Given the description of an element on the screen output the (x, y) to click on. 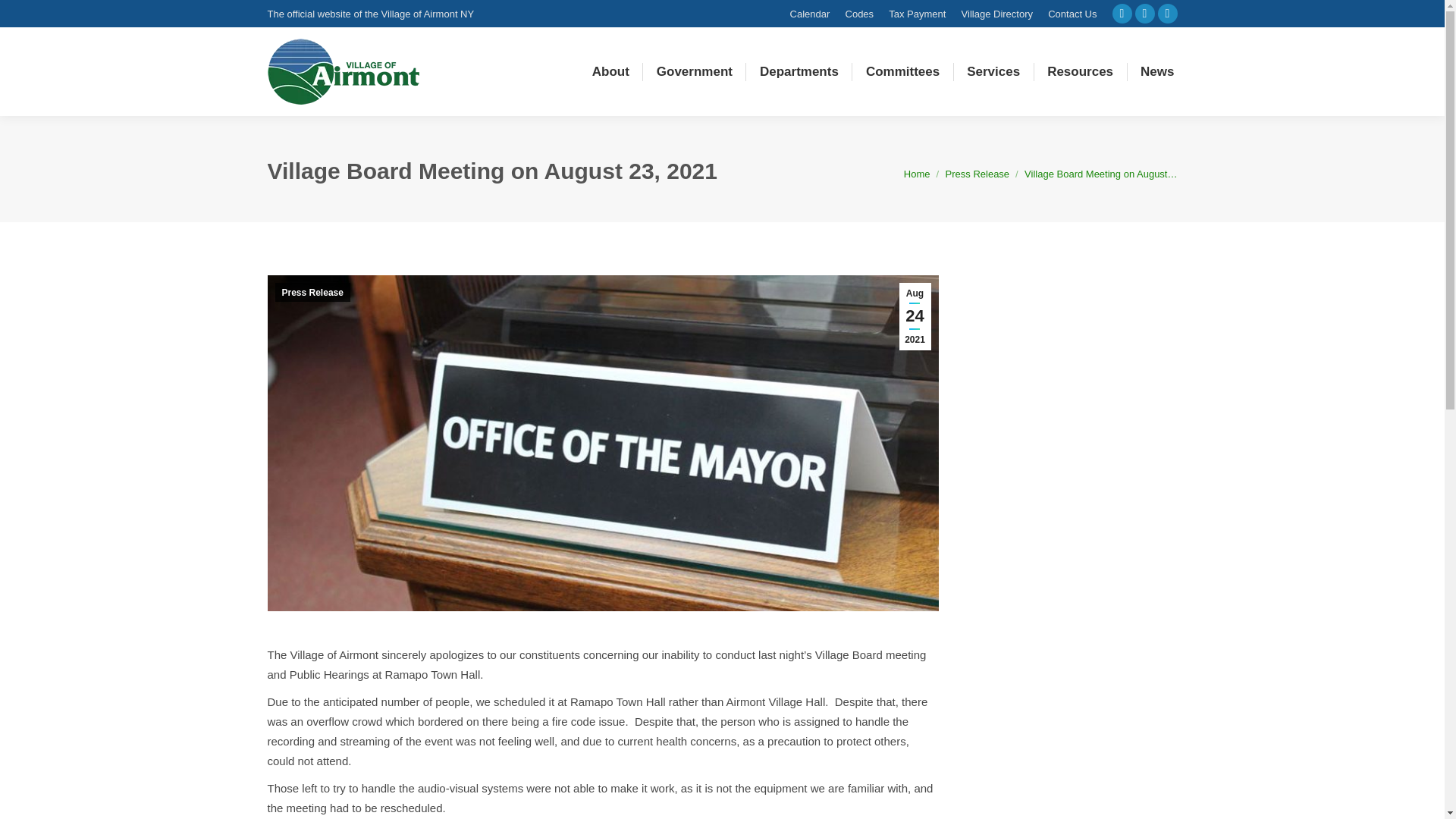
Government (694, 71)
Facebook page opens in new window (1121, 13)
Calendar (809, 12)
Home (917, 173)
Press Release (977, 173)
X page opens in new window (1144, 13)
YouTube page opens in new window (1166, 13)
Committees (902, 71)
Departments (799, 71)
Village Directory (996, 12)
Services (993, 71)
Resources (1079, 71)
Codes (860, 12)
Tax Payment (916, 12)
